Given the description of an element on the screen output the (x, y) to click on. 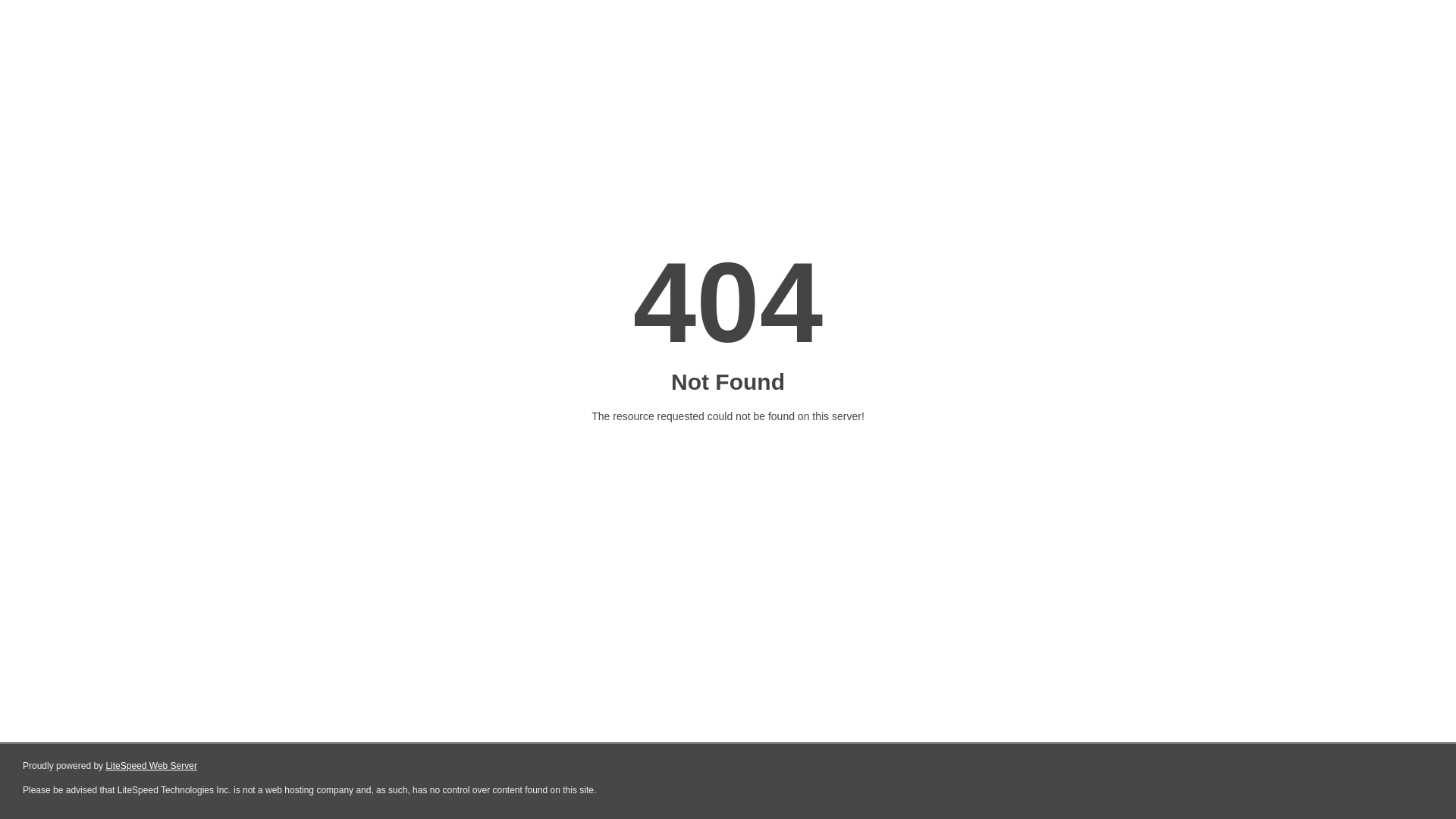
LiteSpeed Web Server Element type: text (151, 765)
